Given the description of an element on the screen output the (x, y) to click on. 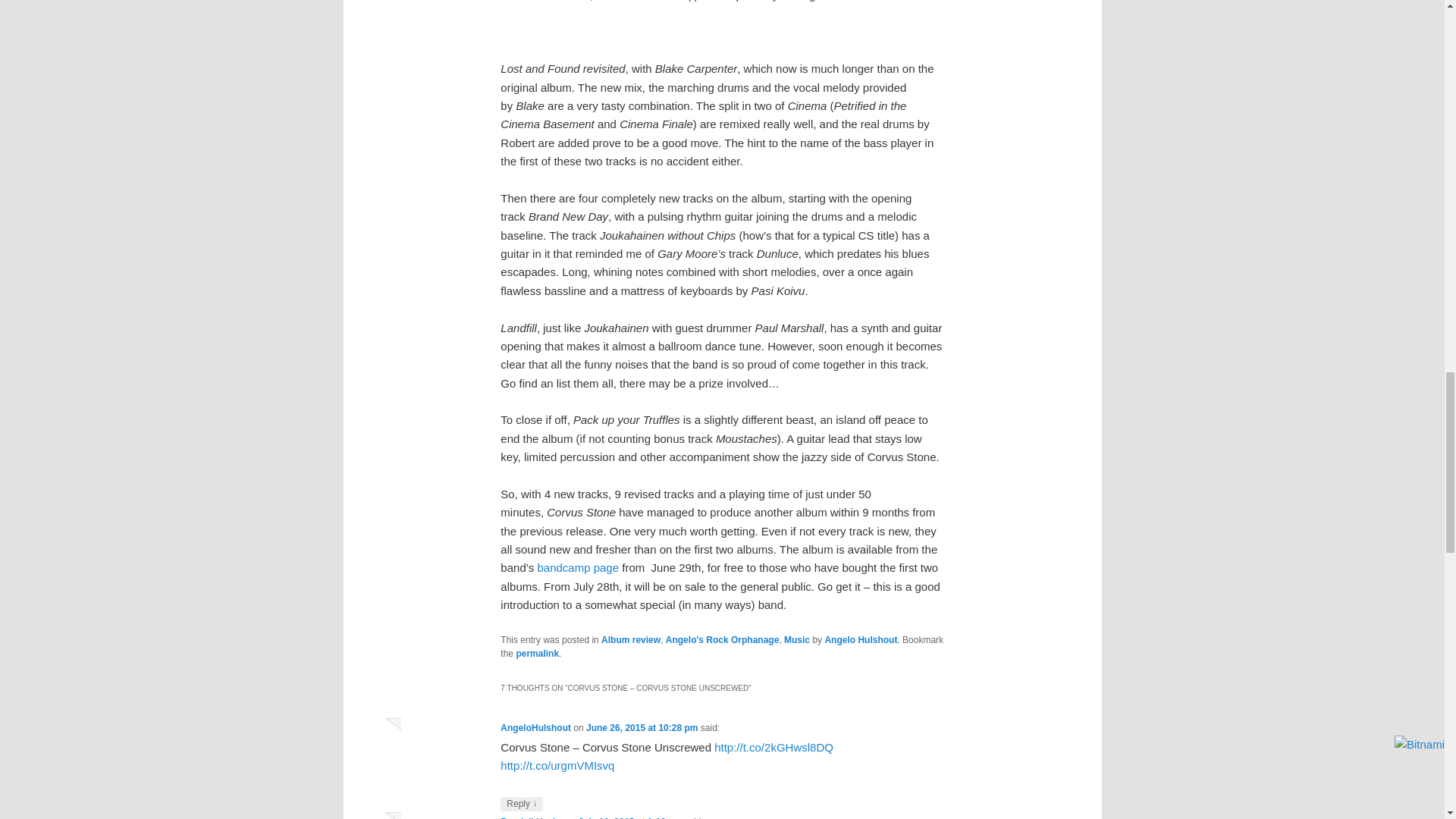
bandcamp page (577, 567)
permalink (537, 653)
June 26, 2015 at 10:28 pm (641, 727)
AngeloHulshout (535, 727)
July 10, 2015 at 1:18 pm (629, 817)
Album review (631, 639)
Randall Haake (531, 817)
Music (796, 639)
Angelo's Rock Orphanage (721, 639)
Angelo Hulshout (860, 639)
